Given the description of an element on the screen output the (x, y) to click on. 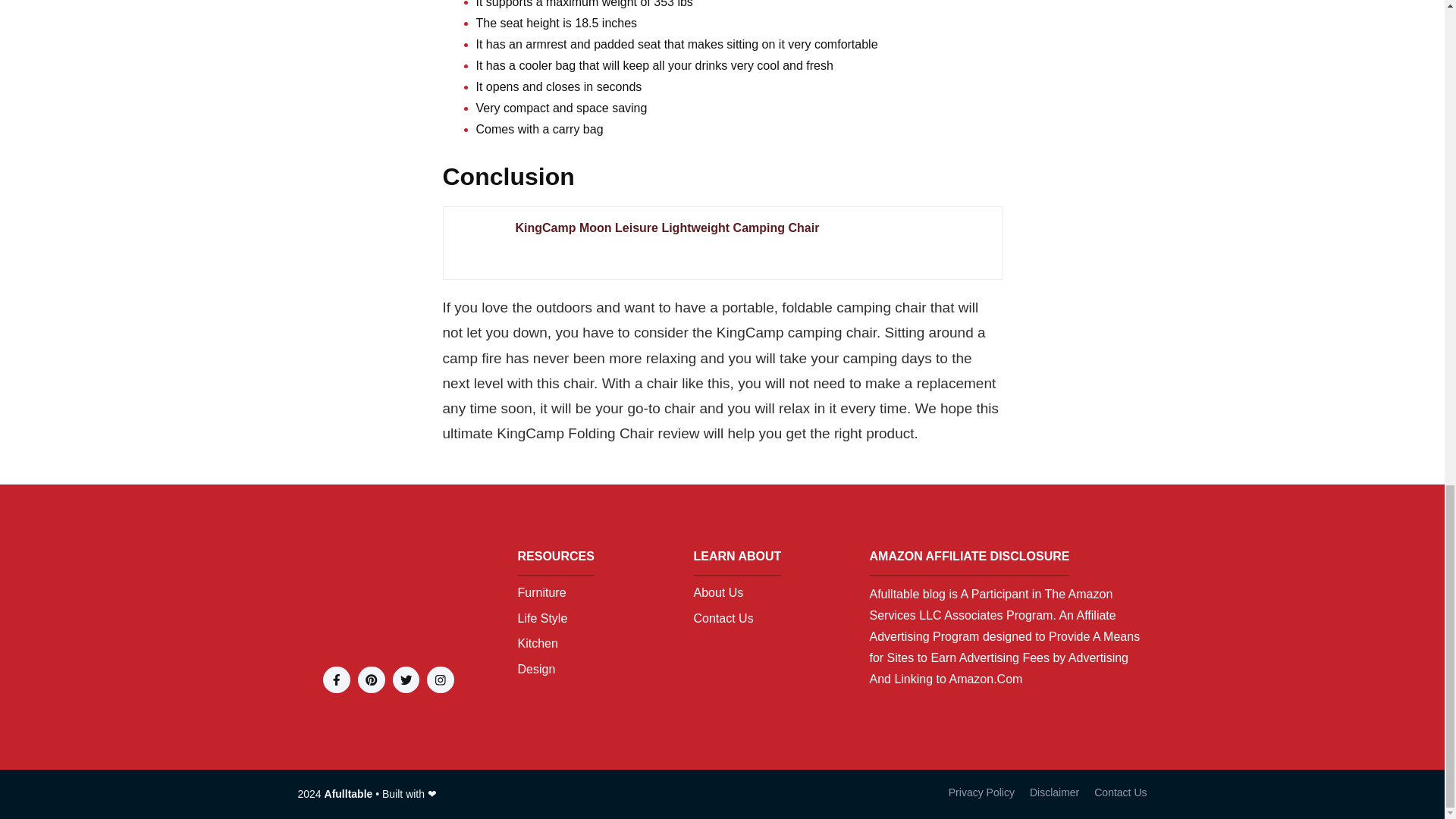
KingCamp Moon Leisure Lightweight Camping Chair (751, 227)
KingCamp Moon Leisure Lightweight Camping Chair (477, 242)
KingCamp Moon Leisure Lightweight Camping Chair (751, 227)
